Given the description of an element on the screen output the (x, y) to click on. 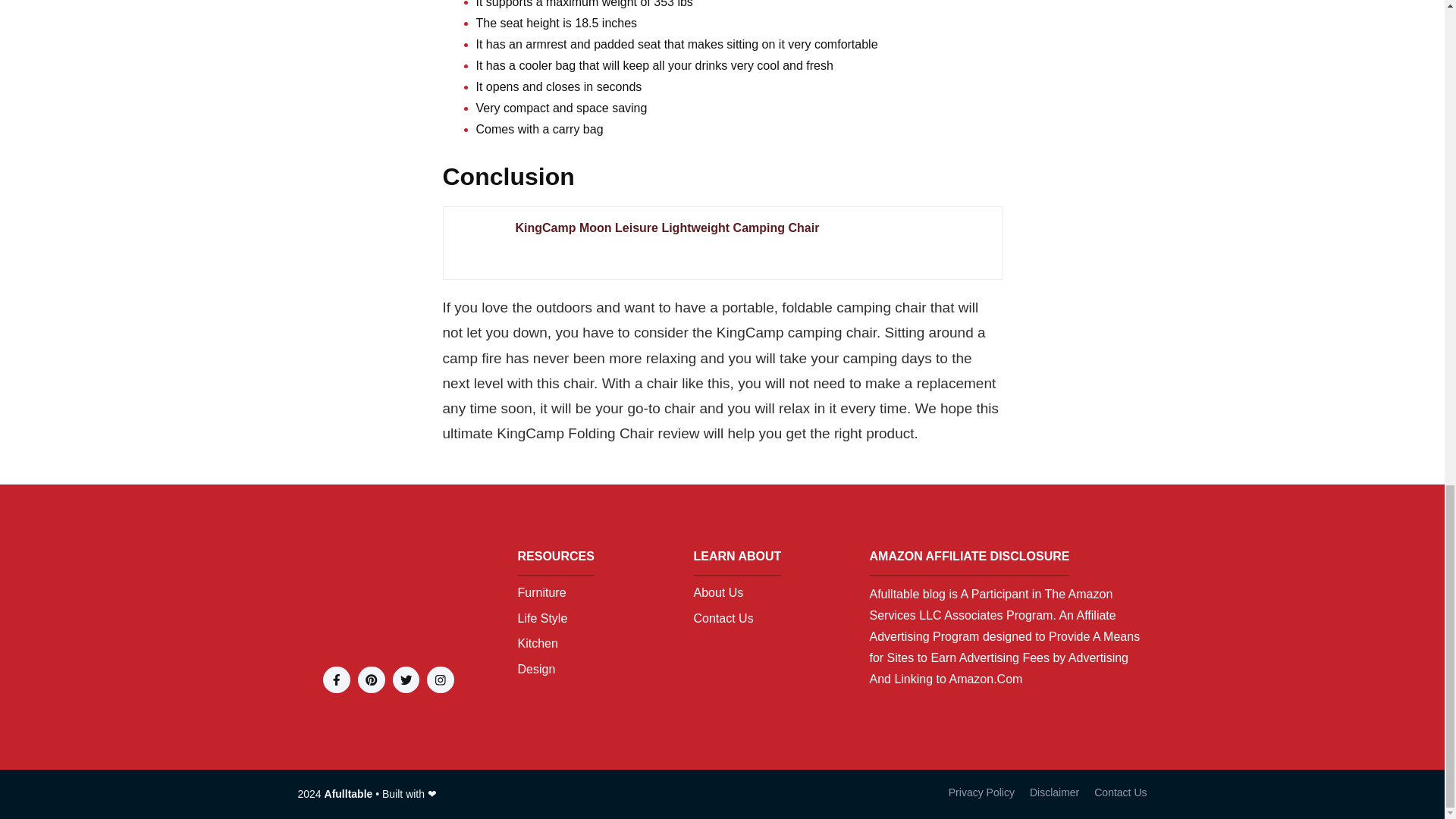
KingCamp Moon Leisure Lightweight Camping Chair (751, 227)
KingCamp Moon Leisure Lightweight Camping Chair (477, 242)
KingCamp Moon Leisure Lightweight Camping Chair (751, 227)
